Given the description of an element on the screen output the (x, y) to click on. 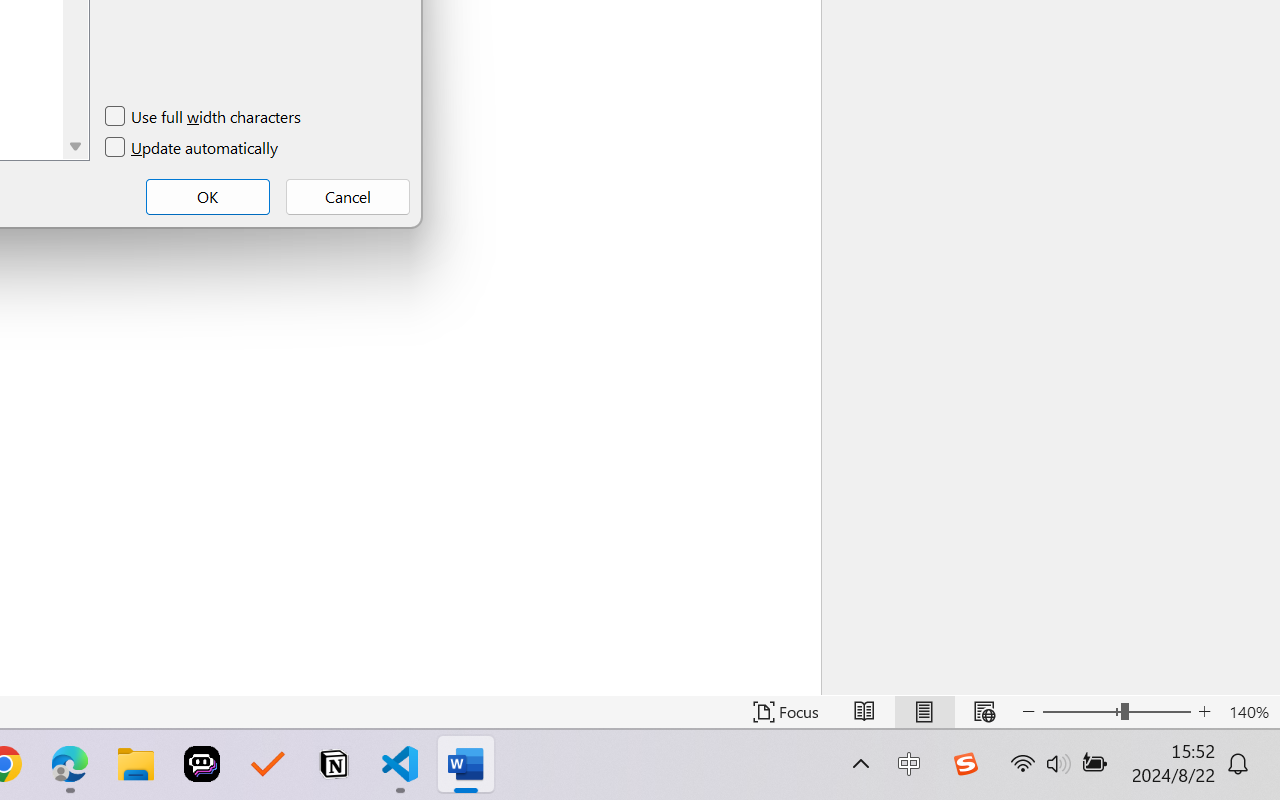
Focus  (786, 712)
Class: Image (965, 764)
Read Mode (864, 712)
Notion (333, 764)
Zoom Out (1081, 712)
Zoom 140% (1249, 712)
Print Layout (924, 712)
Cancel (347, 196)
